Given the description of an element on the screen output the (x, y) to click on. 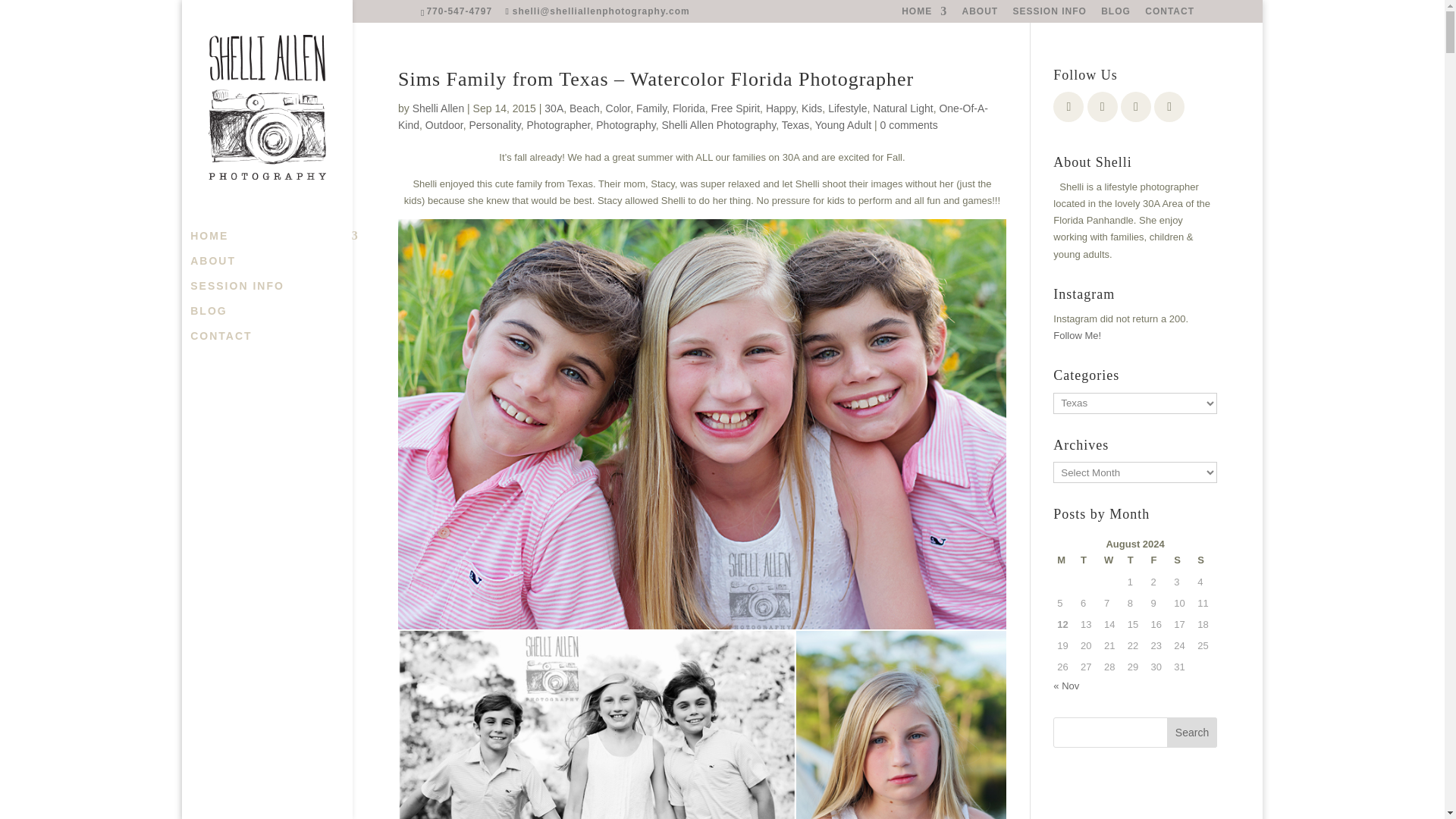
Thursday (1135, 559)
CONTACT (282, 342)
Monday (1064, 559)
Search (1192, 732)
Saturday (1181, 559)
ABOUT (978, 14)
Wednesday (1112, 559)
Friday (1158, 559)
HOME (924, 14)
Sunday (1205, 559)
